Given the description of an element on the screen output the (x, y) to click on. 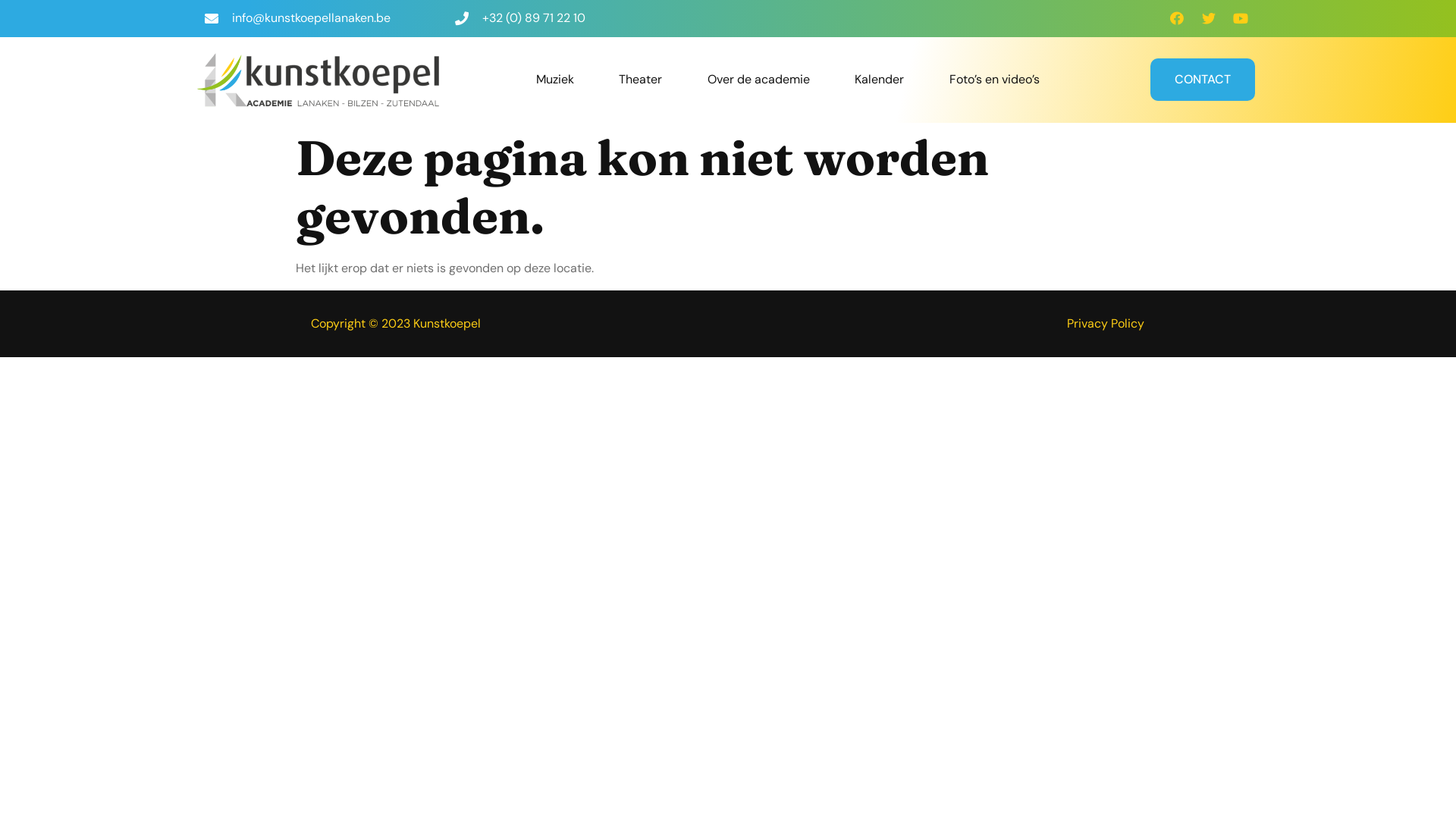
Theater Element type: text (640, 79)
Privacy Policy Element type: text (1105, 323)
CONTACT Element type: text (1202, 79)
Kalender Element type: text (879, 79)
Muziek Element type: text (554, 79)
Over de academie Element type: text (758, 79)
